Given the description of an element on the screen output the (x, y) to click on. 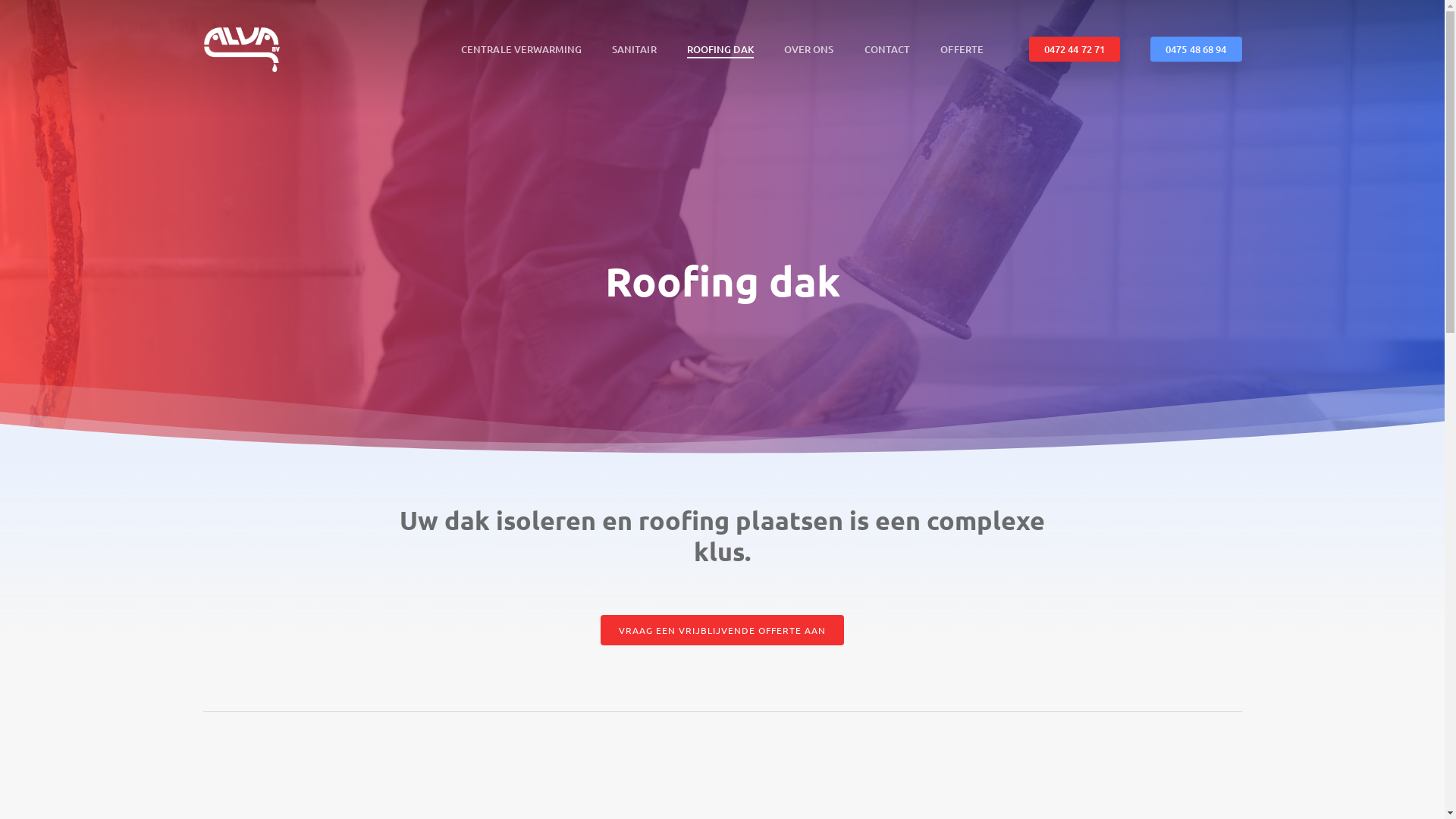
OVER ONS Element type: text (809, 48)
0472 44 72 71 Element type: text (1074, 48)
CENTRALE VERWARMING Element type: text (521, 48)
google-plus Element type: text (1206, 792)
ROOFING DAK Element type: text (720, 48)
VRAAG EEN VRIJBLIJVENDE OFFERTE AAN Element type: text (722, 630)
CONTACT Element type: text (887, 48)
OFFERTE Element type: text (961, 48)
KScreative Element type: text (581, 793)
SANITAIR Element type: text (633, 48)
instagram Element type: text (1234, 792)
Privacy Element type: text (421, 793)
facebook Element type: text (1180, 792)
0475 48 68 94 Element type: text (1195, 48)
